Given the description of an element on the screen output the (x, y) to click on. 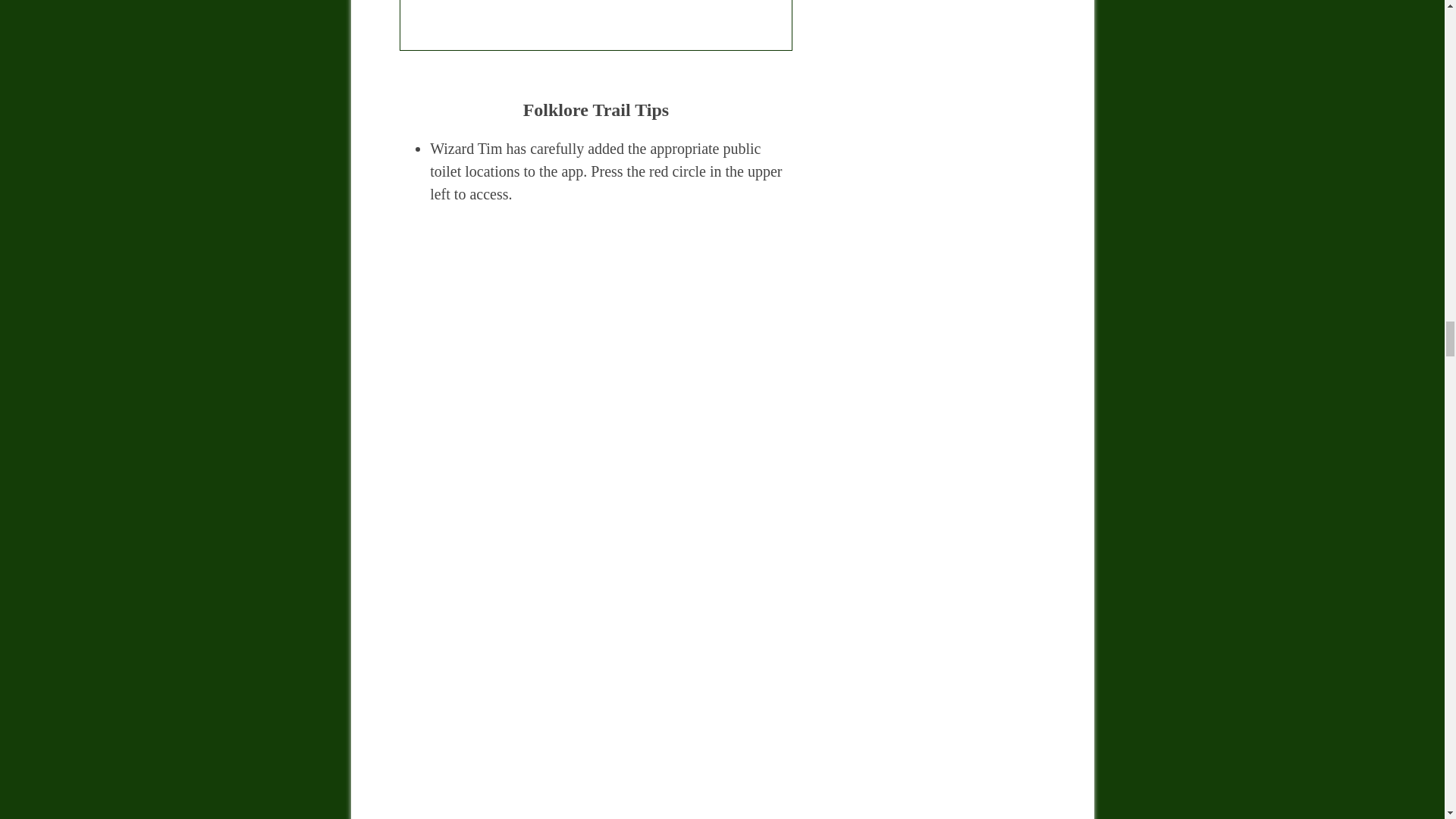
Meashowe from the back side (595, 25)
